Given the description of an element on the screen output the (x, y) to click on. 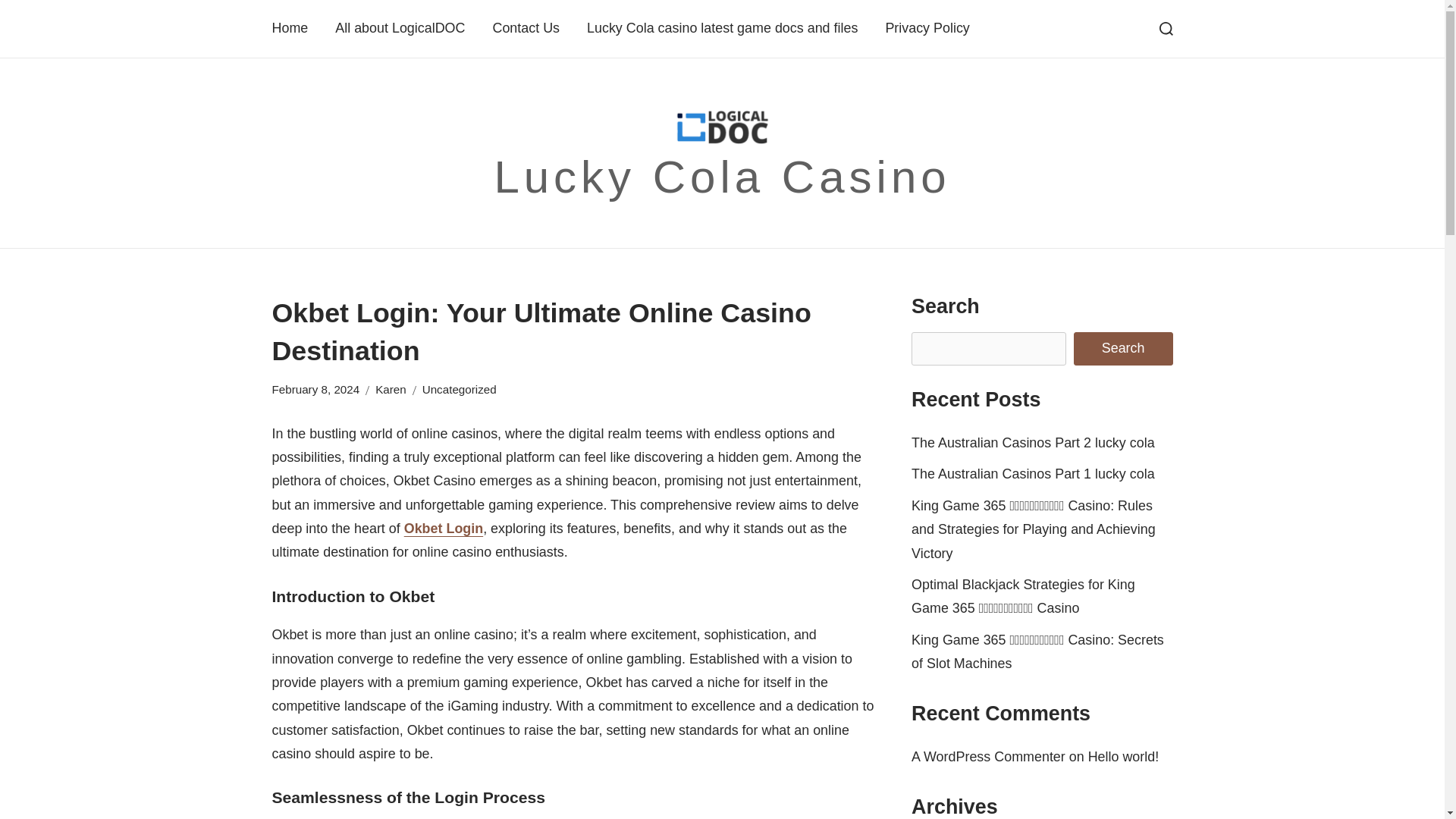
All about LogicalDOC (399, 28)
A WordPress Commenter (988, 756)
Search (1123, 348)
Karen (390, 390)
Contact Us (525, 28)
February 8, 2024 (314, 390)
The Australian Casinos Part 1 lucky cola (1032, 473)
Home (288, 28)
Lucky Cola Casino (721, 176)
Lucky Cola casino latest game docs and files (721, 28)
The Australian Casinos Part 2 lucky cola (1032, 442)
Uncategorized (459, 390)
Privacy Policy (927, 28)
Okbet Login (443, 528)
